Given the description of an element on the screen output the (x, y) to click on. 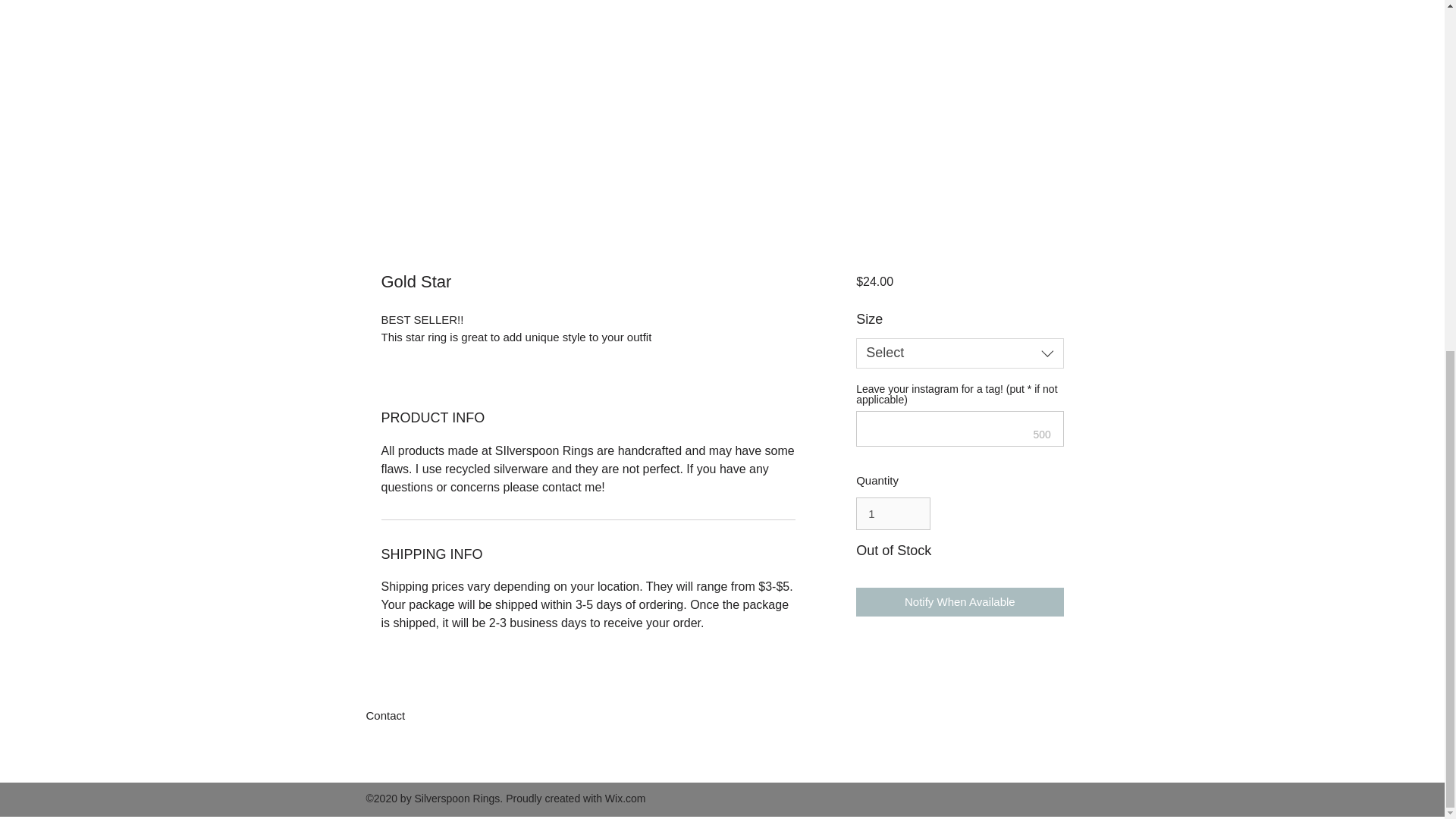
Notify When Available (959, 602)
Select (959, 353)
1 (893, 513)
